Given the description of an element on the screen output the (x, y) to click on. 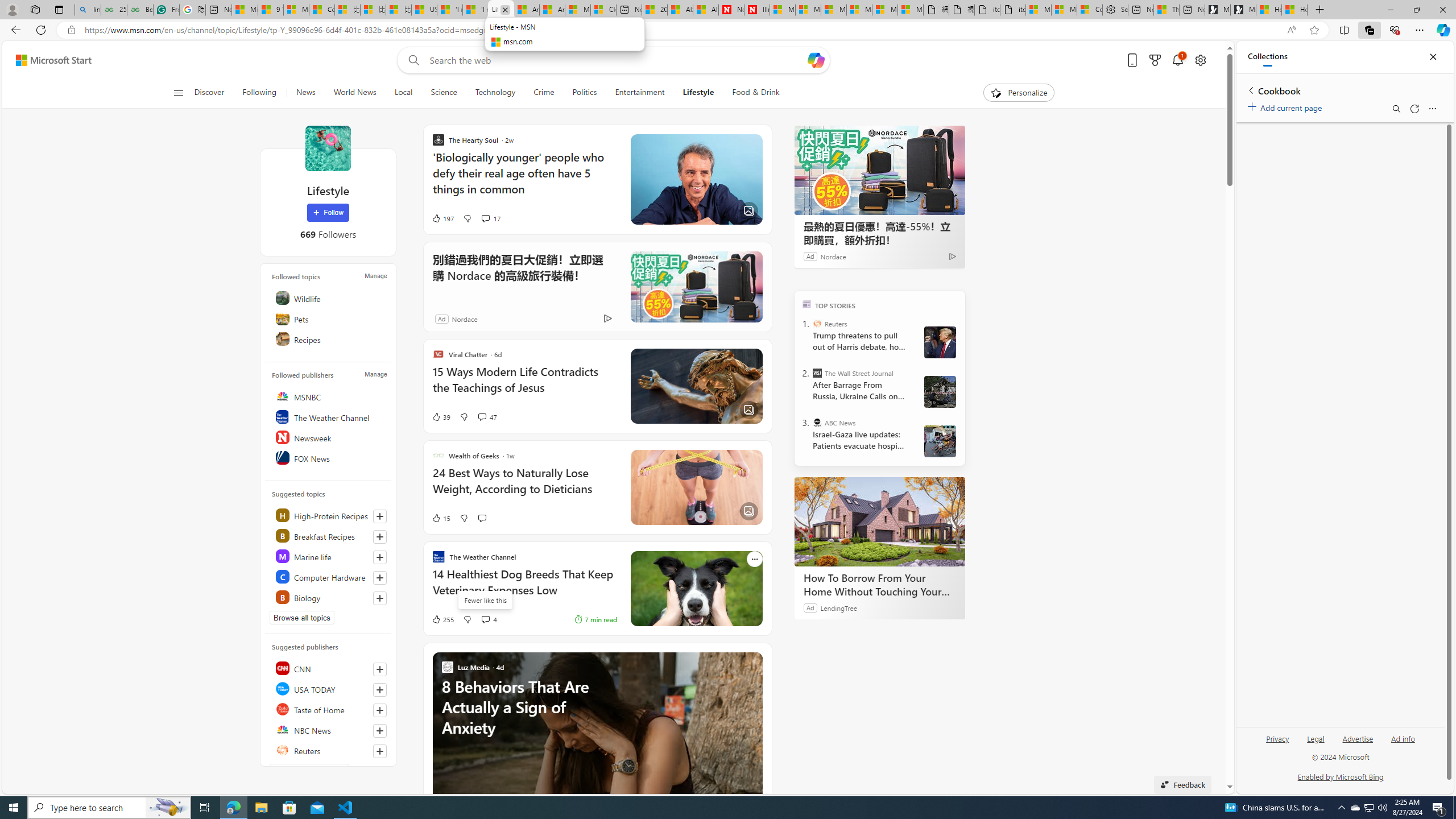
View comments 47 Comment (481, 416)
Crime (543, 92)
Cloud Computing Services | Microsoft Azure (603, 9)
Skip to content (49, 59)
Advertise (1357, 738)
More options menu (1432, 108)
